Given the description of an element on the screen output the (x, y) to click on. 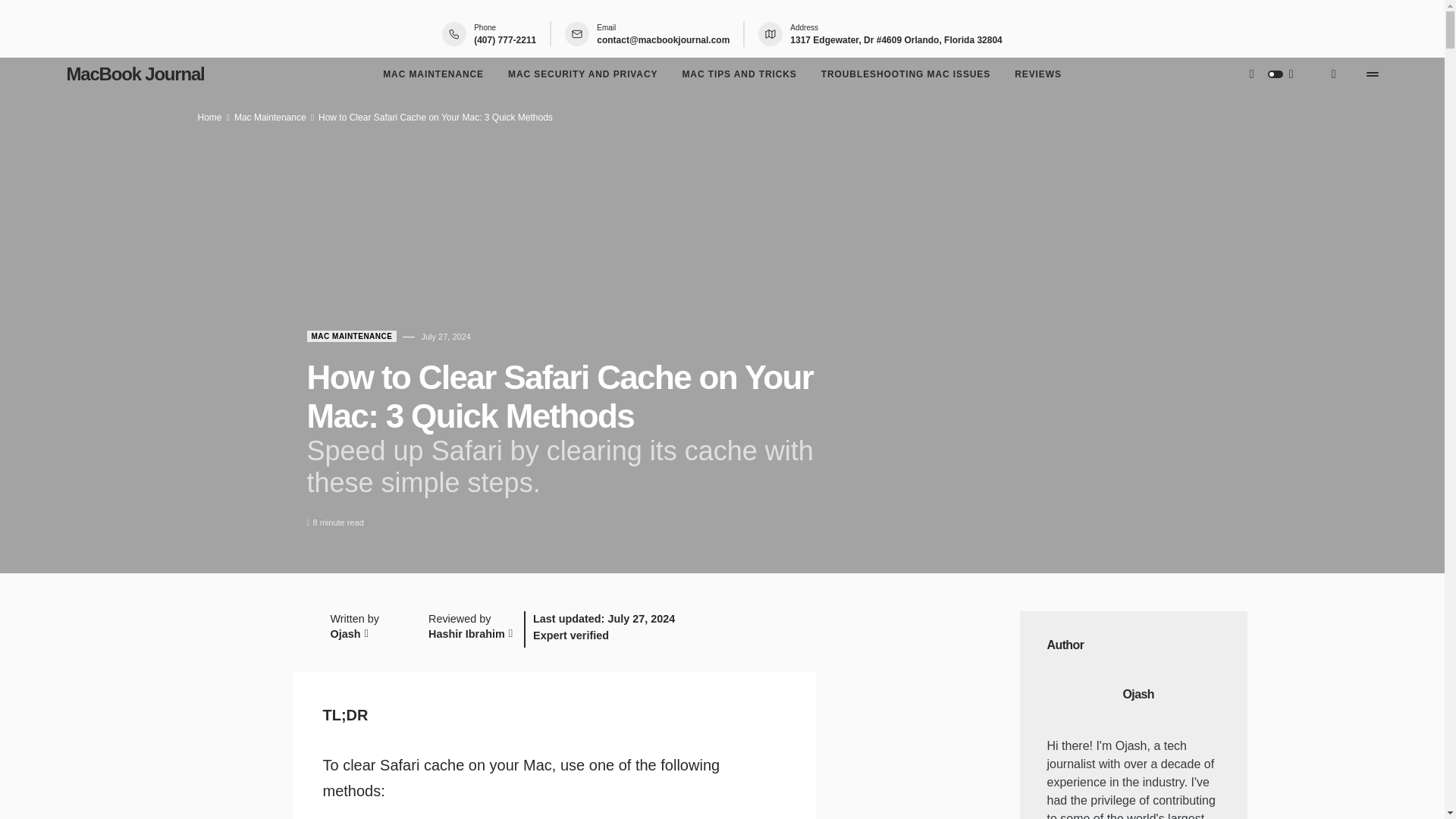
MAC MAINTENANCE (432, 74)
MAC TIPS AND TRICKS (738, 74)
TROUBLESHOOTING MAC ISSUES (905, 74)
MacBook Journal (135, 73)
REVIEWS (1037, 74)
MAC SECURITY AND PRIVACY (583, 74)
